Given the description of an element on the screen output the (x, y) to click on. 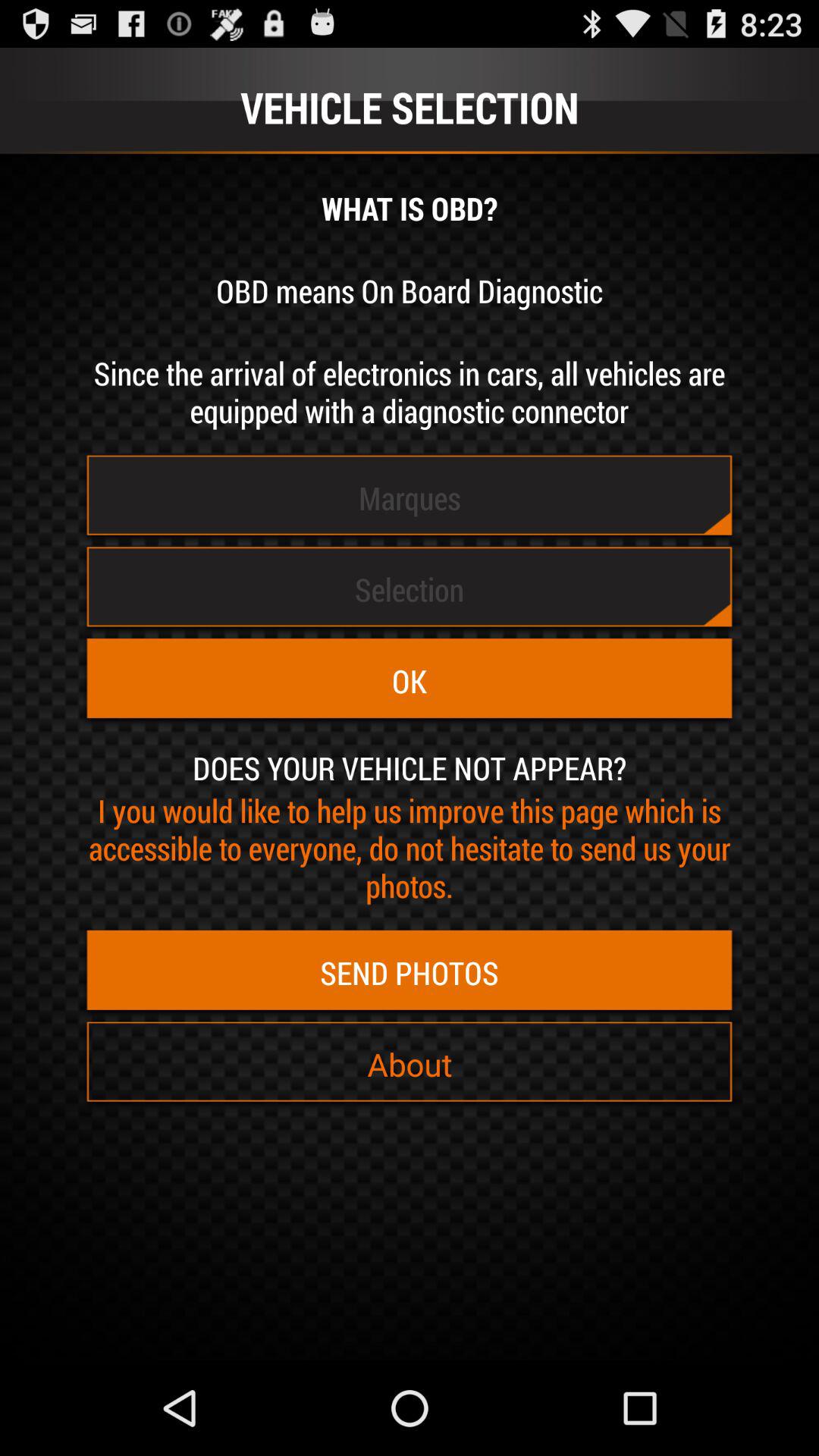
turn on the about item (409, 1064)
